Given the description of an element on the screen output the (x, y) to click on. 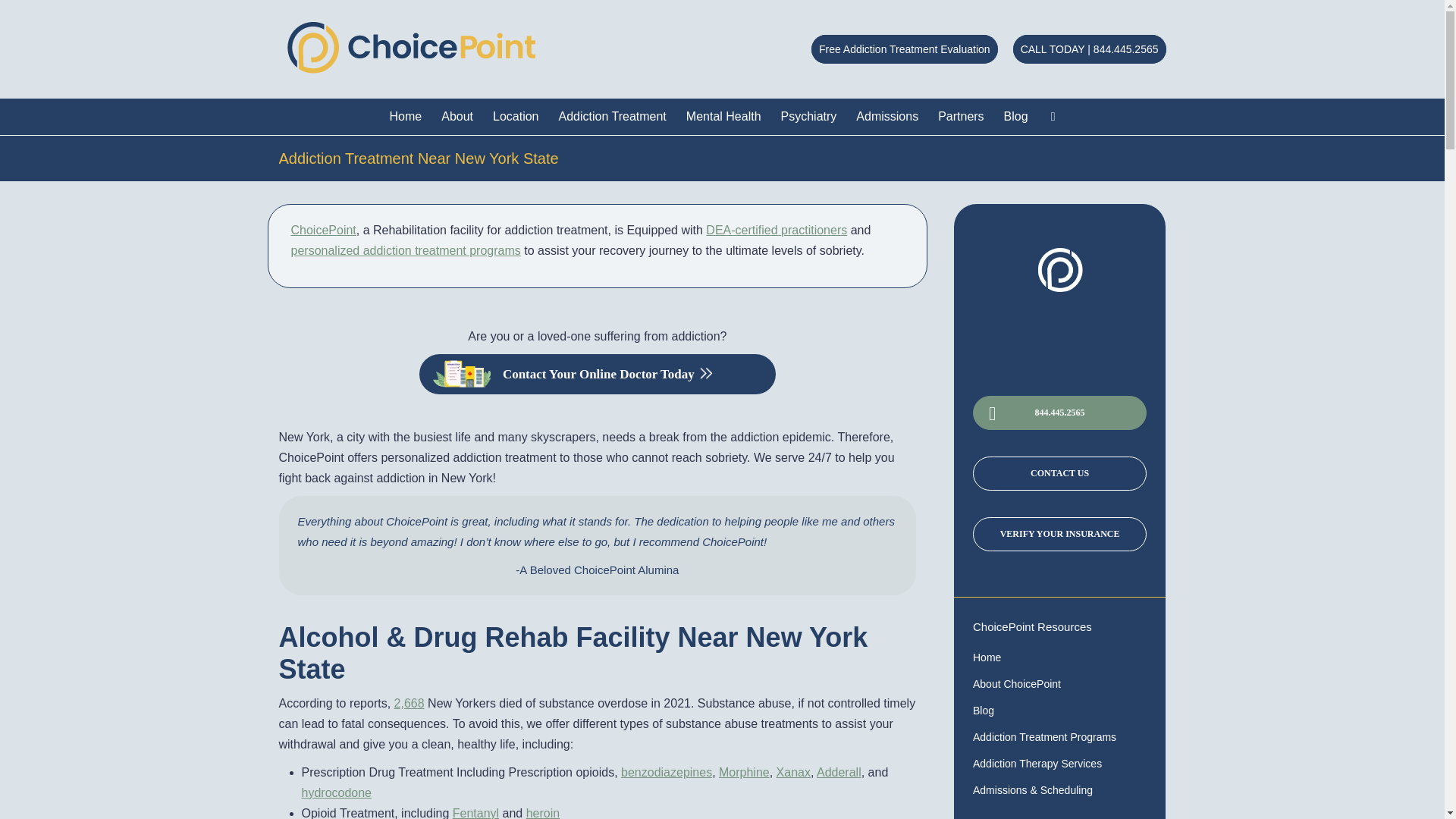
Home (406, 116)
ChoicePoint Hackensack bottom bar high dpi 2 (1059, 269)
Addiction Treatment (612, 116)
Contact ChoicePoint Health (1066, 445)
About (457, 116)
Insurance Verification (1066, 480)
Free Addiction Treatment Evaluation (903, 49)
Location (515, 116)
